Given the description of an element on the screen output the (x, y) to click on. 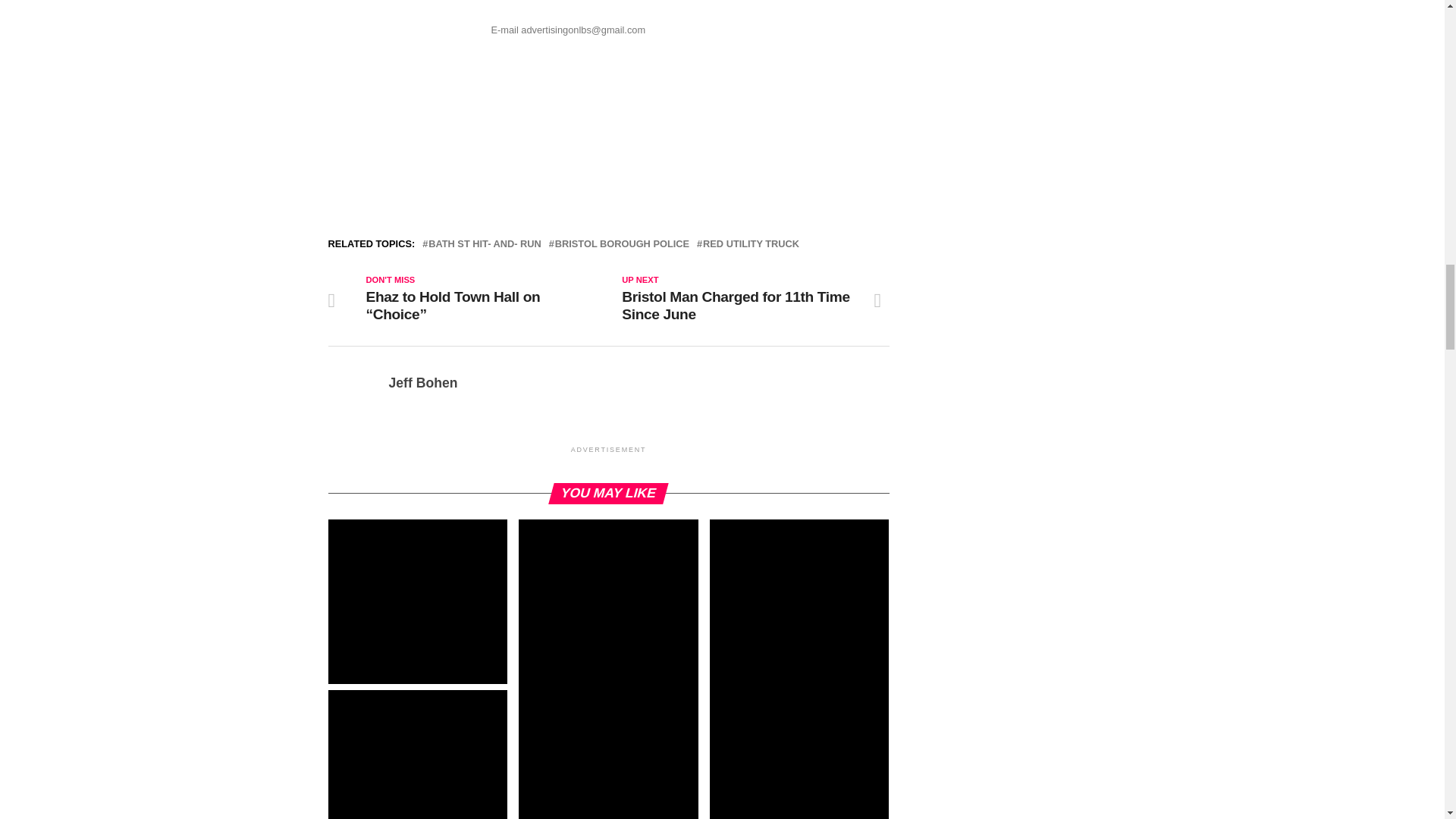
Posts by Jeff Bohen (422, 382)
